Given the description of an element on the screen output the (x, y) to click on. 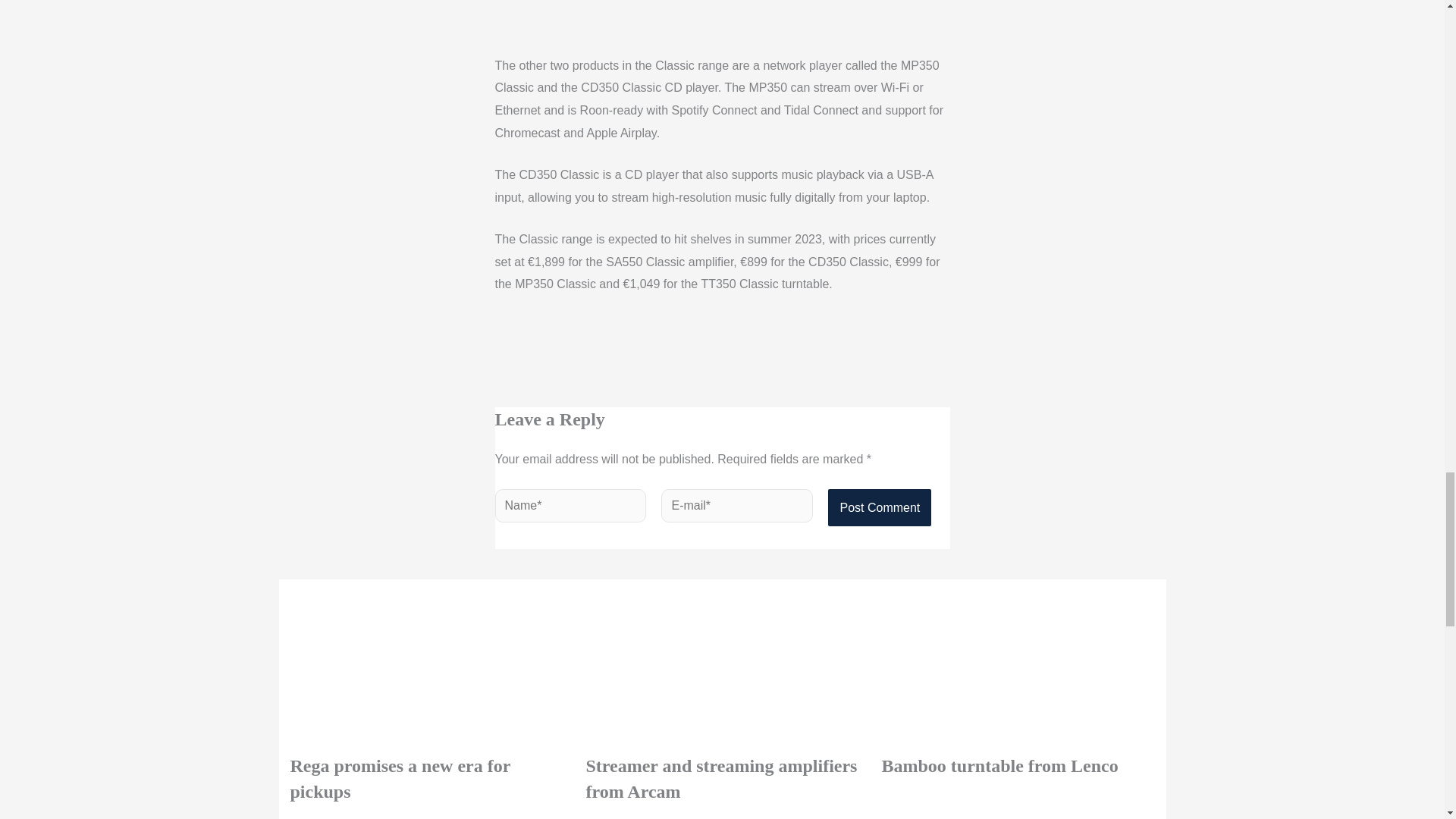
Post Comment (879, 507)
JBL-claassic-series-electronics-JBL-SA550 (608, 18)
